Given the description of an element on the screen output the (x, y) to click on. 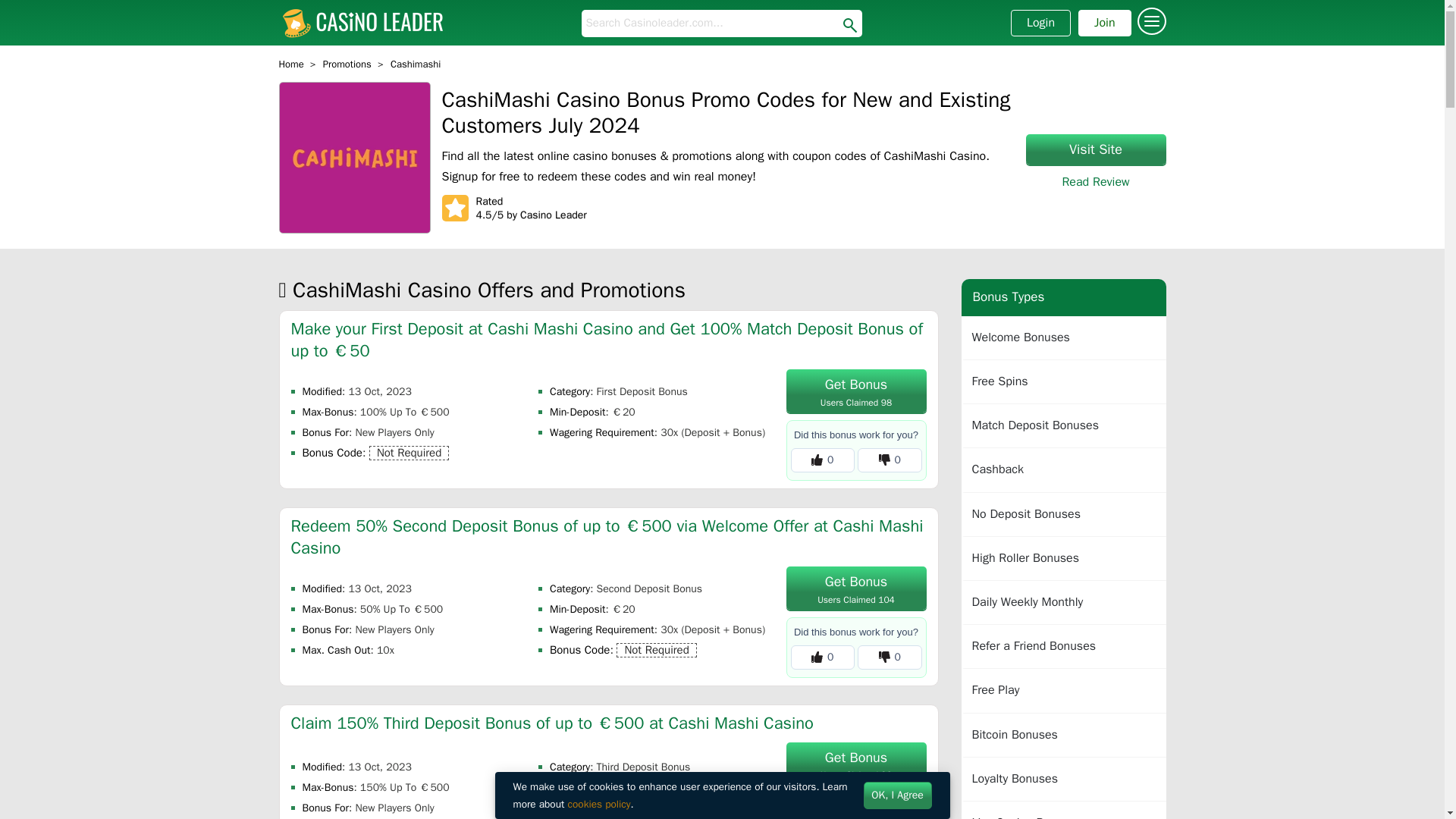
CashiMashi Casino (354, 157)
Login (1040, 22)
Visit Site (856, 587)
Join (1095, 149)
Not Required (1104, 22)
Promotions (655, 649)
Home (347, 63)
Read Review (291, 63)
Home (856, 763)
Not Required (1095, 181)
Casino Leader (291, 63)
